Given the description of an element on the screen output the (x, y) to click on. 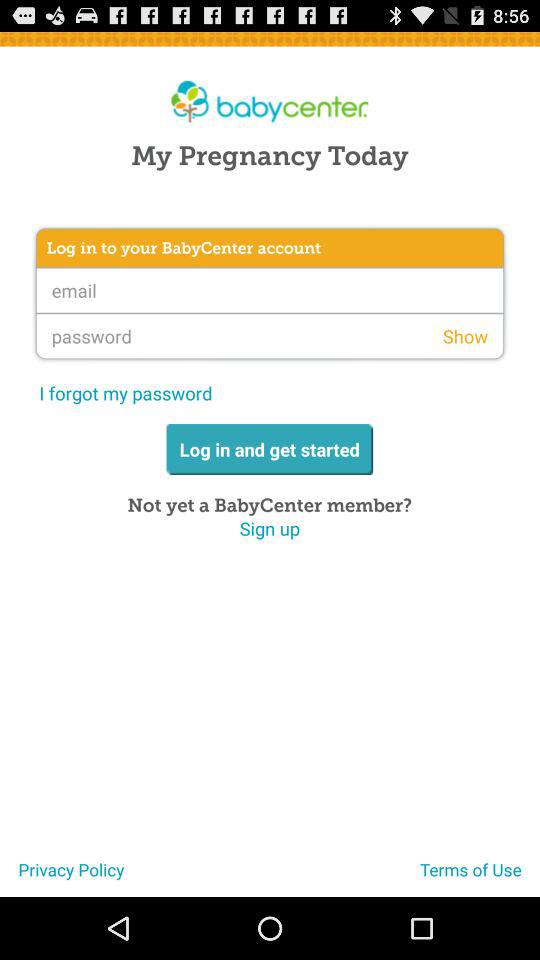
tap the icon to the right of the privacy policy app (480, 877)
